Given the description of an element on the screen output the (x, y) to click on. 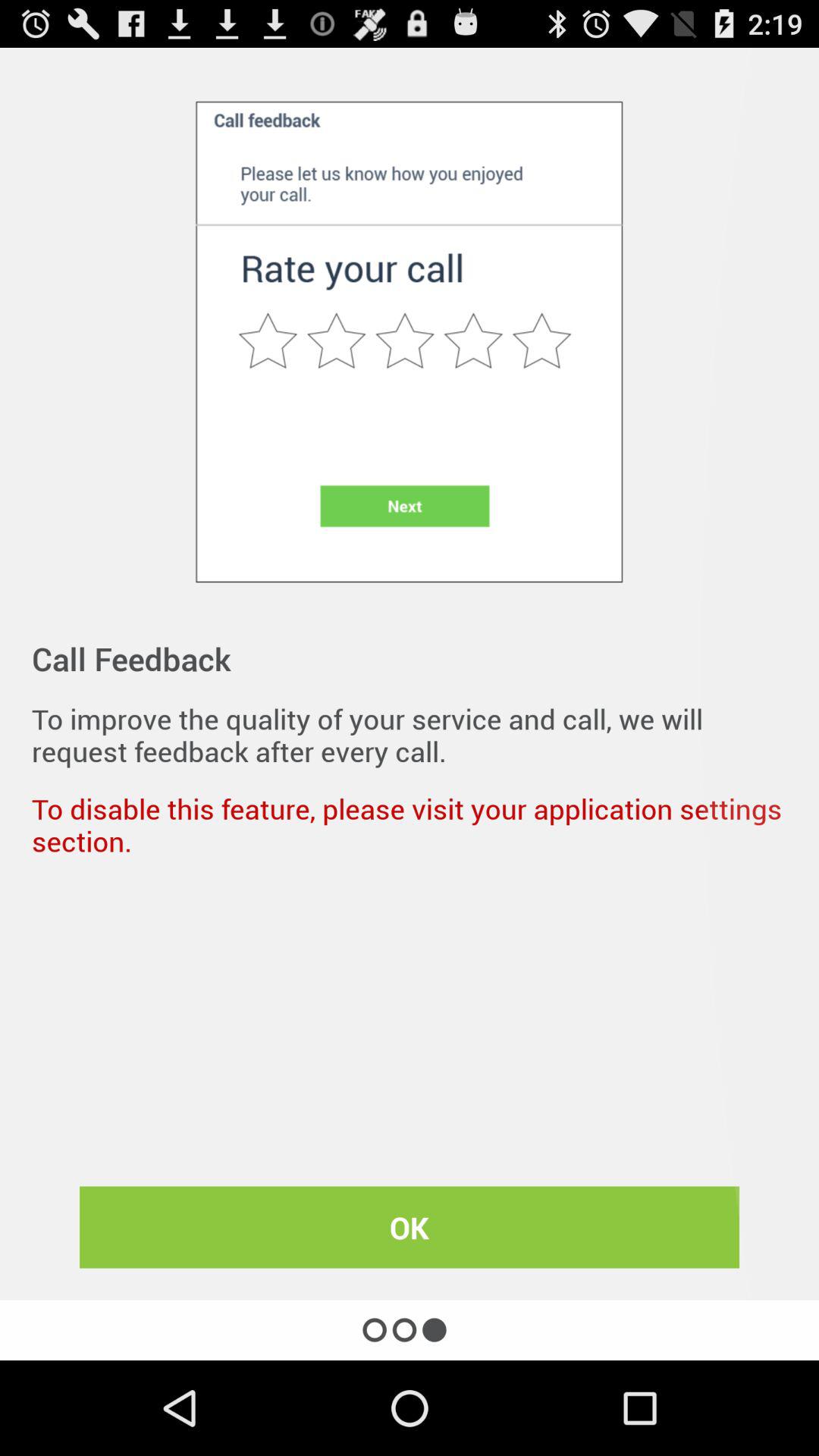
jump to the ok (409, 1227)
